Given the description of an element on the screen output the (x, y) to click on. 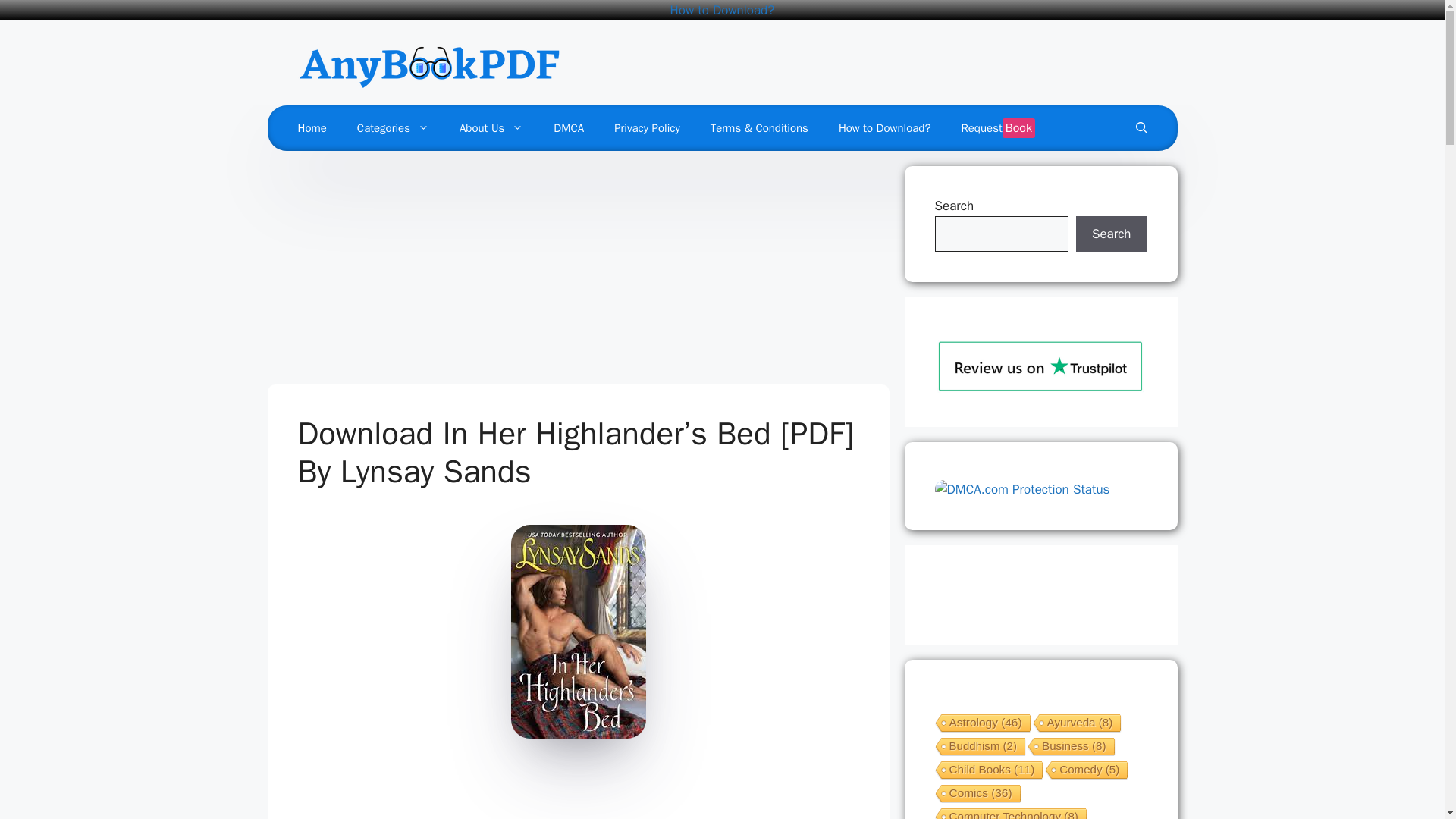
About Us (491, 127)
Categories (393, 127)
DMCA.com Protection Status (1021, 489)
Home (311, 127)
Advertisement (578, 272)
Advertisement (572, 791)
How to Download? (721, 10)
